Given the description of an element on the screen output the (x, y) to click on. 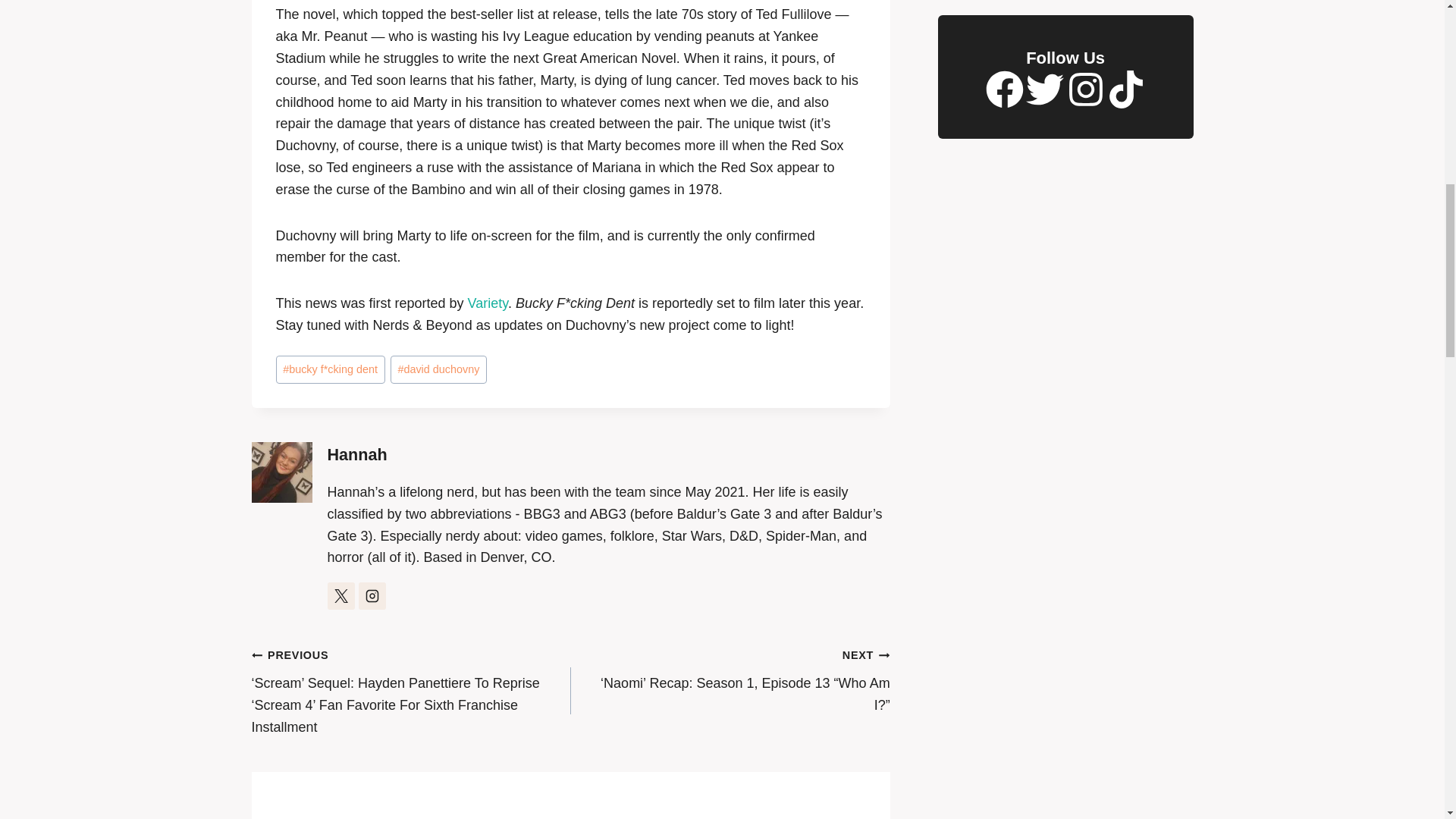
Follow Hannah on X formerly Twitter (341, 595)
Follow Hannah on Instagram (371, 595)
david duchovny (438, 369)
Posts by Hannah (357, 454)
